Given the description of an element on the screen output the (x, y) to click on. 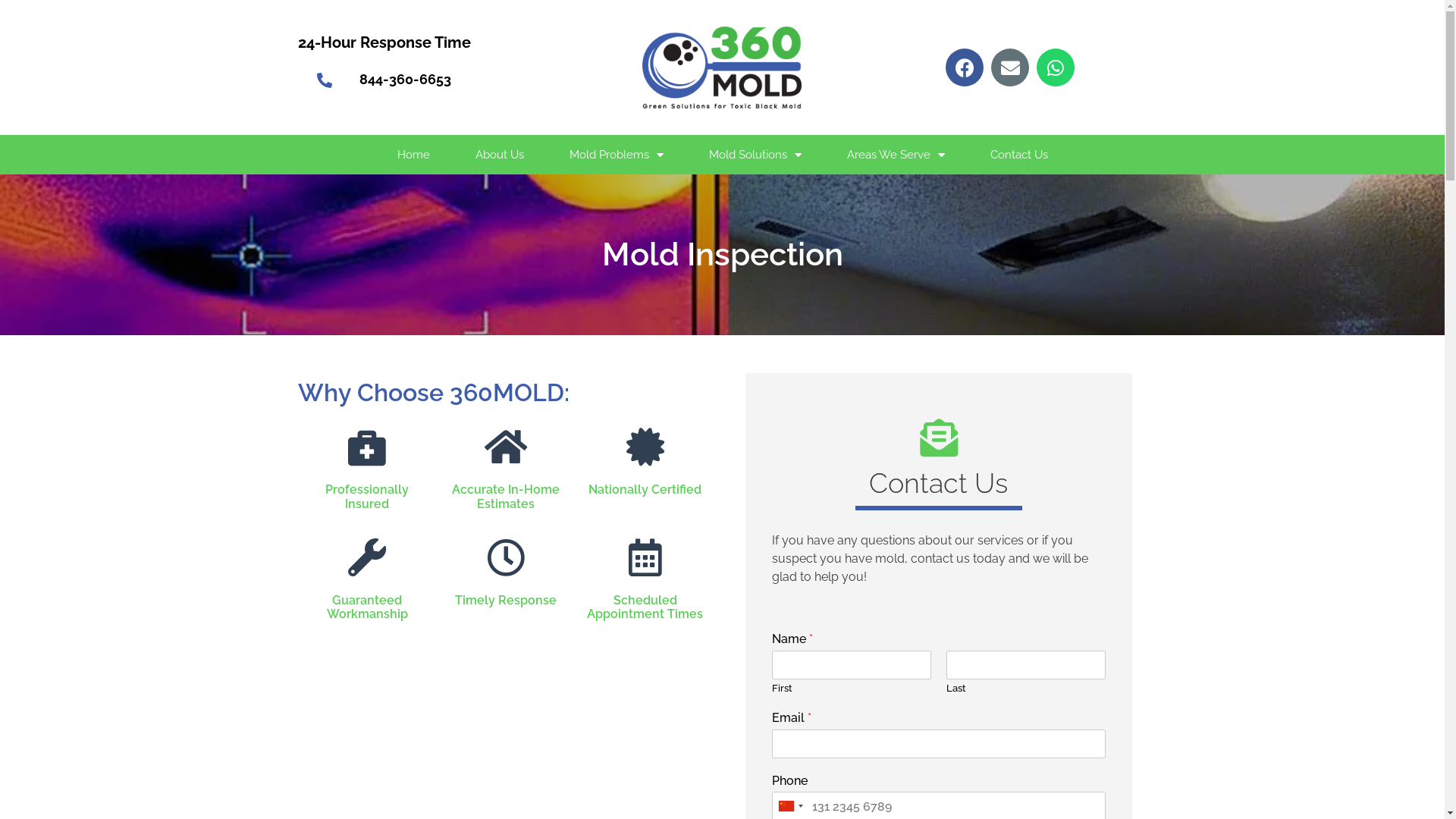
About Us Element type: text (498, 154)
844-360-6653 Element type: text (405, 79)
Mold Solutions Element type: text (754, 154)
Home Element type: text (413, 154)
Mold Problems Element type: text (615, 154)
Contact Us Element type: text (1018, 154)
Areas We Serve Element type: text (894, 154)
